Given the description of an element on the screen output the (x, y) to click on. 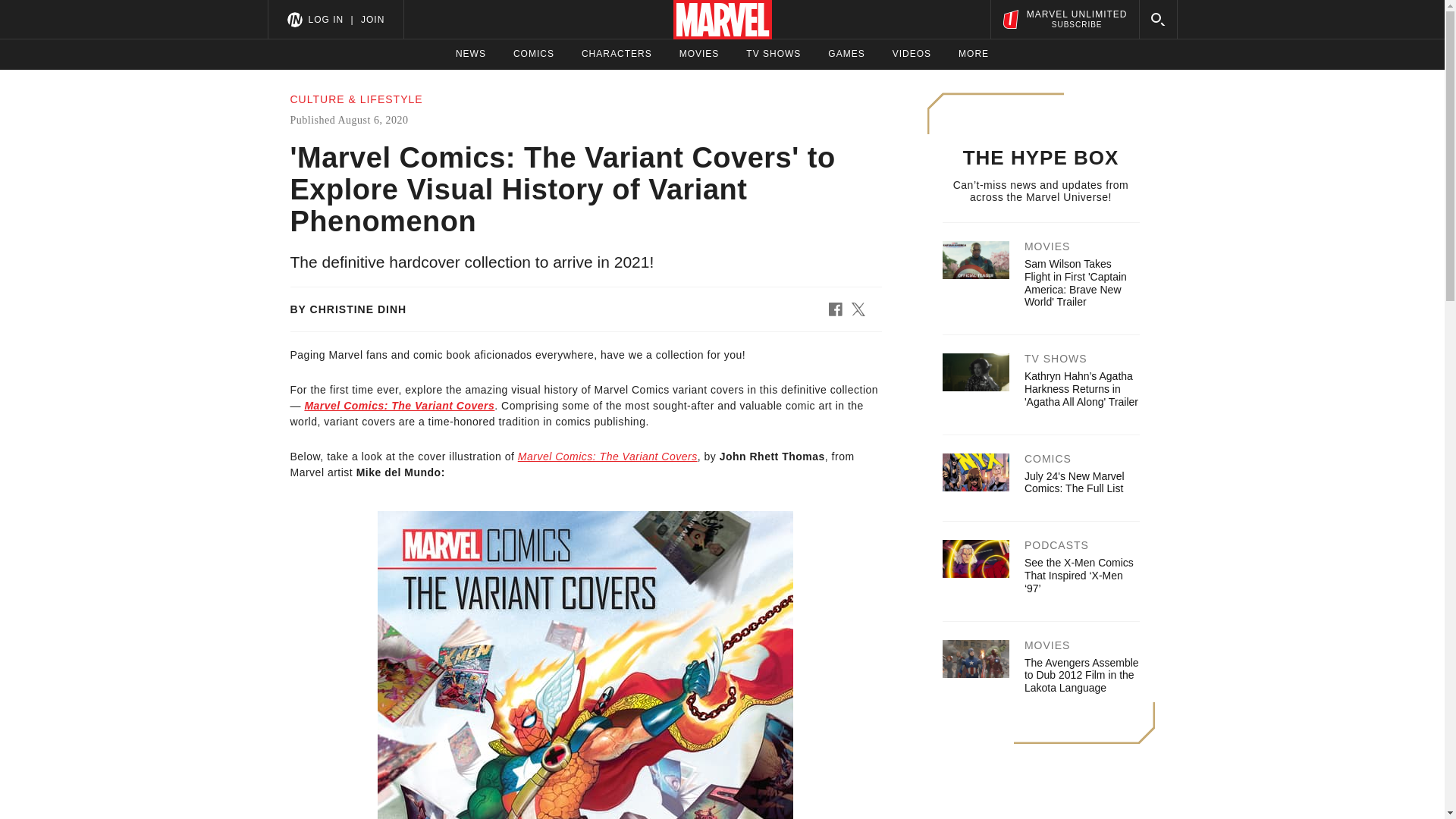
JOIN (372, 18)
NEWS (1064, 19)
Marvel Comics: The Variant Covers (470, 54)
Marvel Comics: The Variant Covers (399, 405)
TV SHOWS (607, 456)
LOG IN (772, 54)
CHARACTERS (325, 18)
MOVIES (616, 54)
GAMES (699, 54)
July 24's New Marvel Comics: The Full List (846, 54)
VIDEOS (1074, 482)
COMICS (911, 54)
MORE (533, 54)
